Given the description of an element on the screen output the (x, y) to click on. 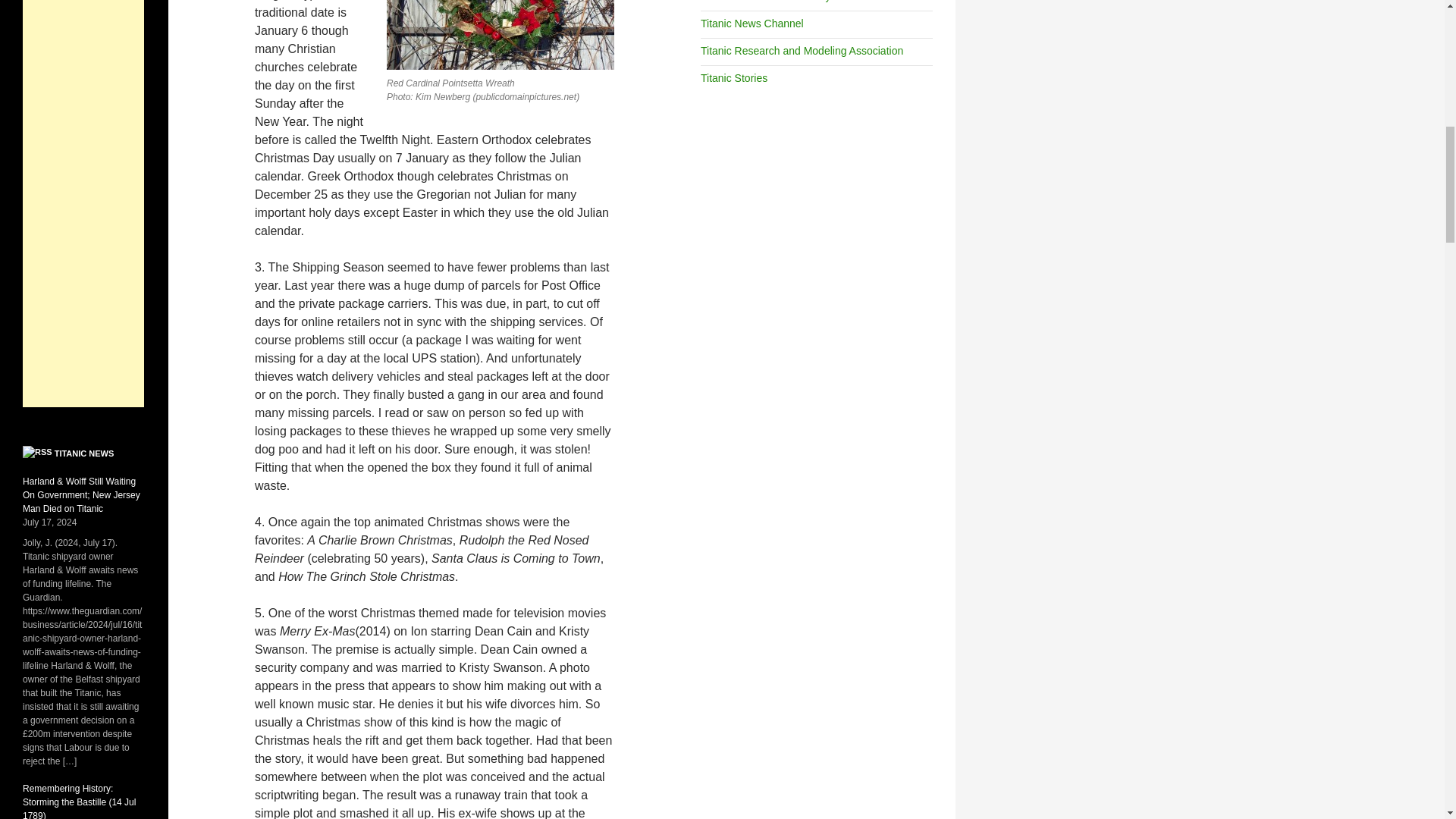
News reports on Titanic and related information. (751, 23)
